Given the description of an element on the screen output the (x, y) to click on. 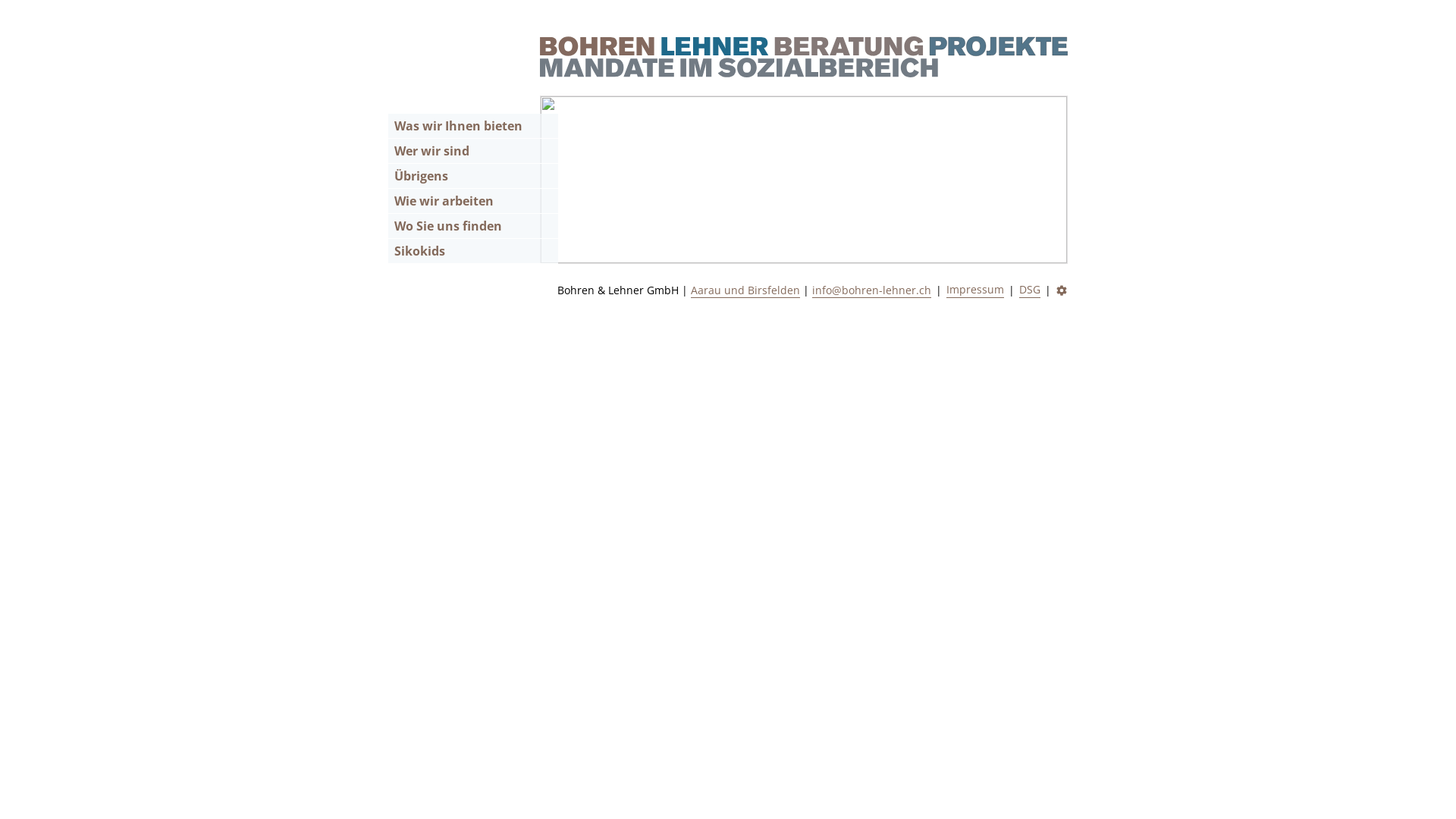
Sikokids Element type: text (473, 250)
Was wir Ihnen bieten Element type: text (473, 125)
DSG Element type: text (1029, 290)
Aarau und Birsfelden Element type: text (745, 290)
info@bohren-lehner.ch Element type: text (871, 290)
Wo Sie uns finden Element type: text (473, 225)
Impressum Element type: text (975, 290)
Wer wir sind Element type: text (473, 150)
Wie wir arbeiten Element type: text (473, 200)
